Given the description of an element on the screen output the (x, y) to click on. 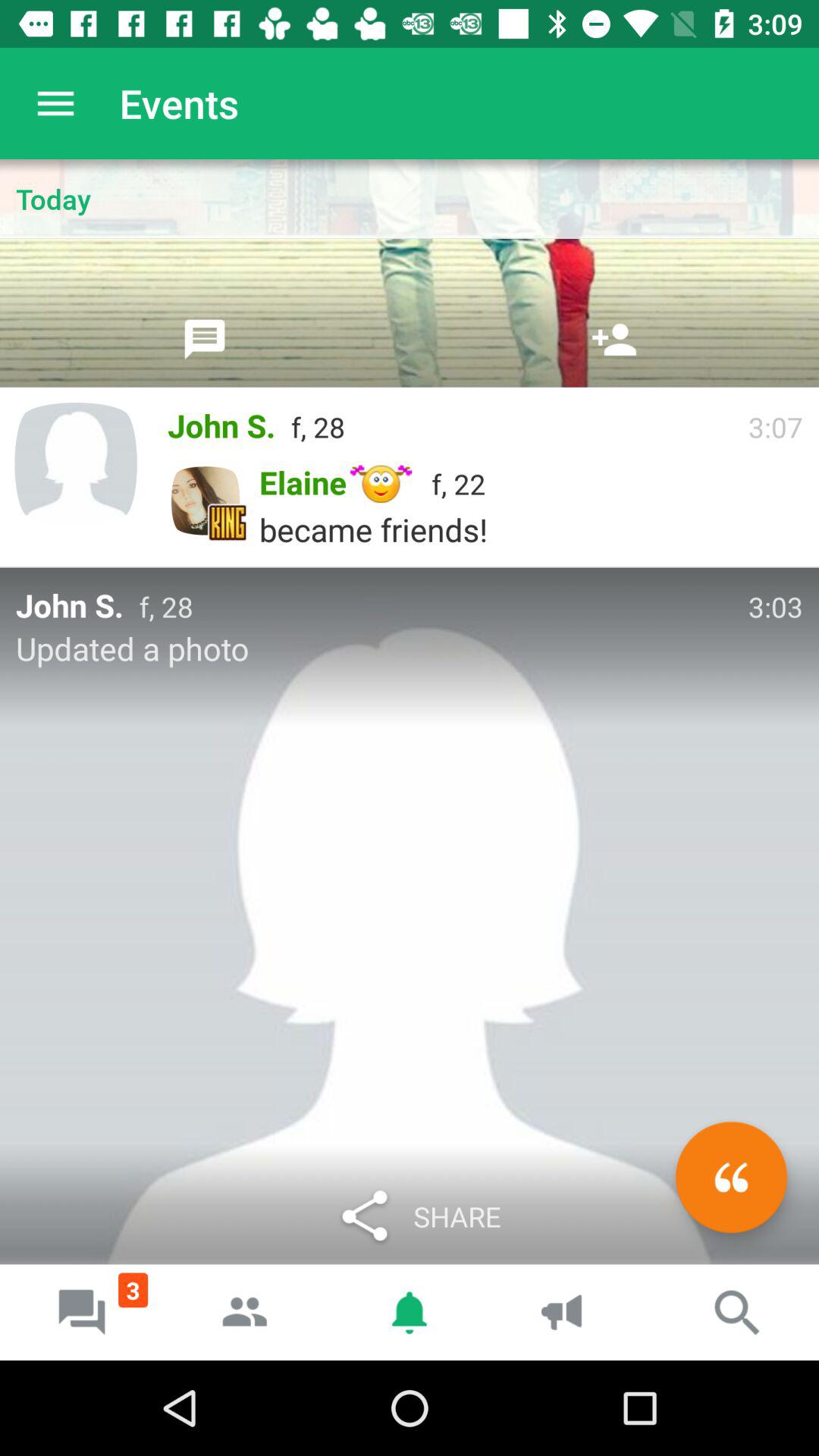
share by text (204, 339)
